Given the description of an element on the screen output the (x, y) to click on. 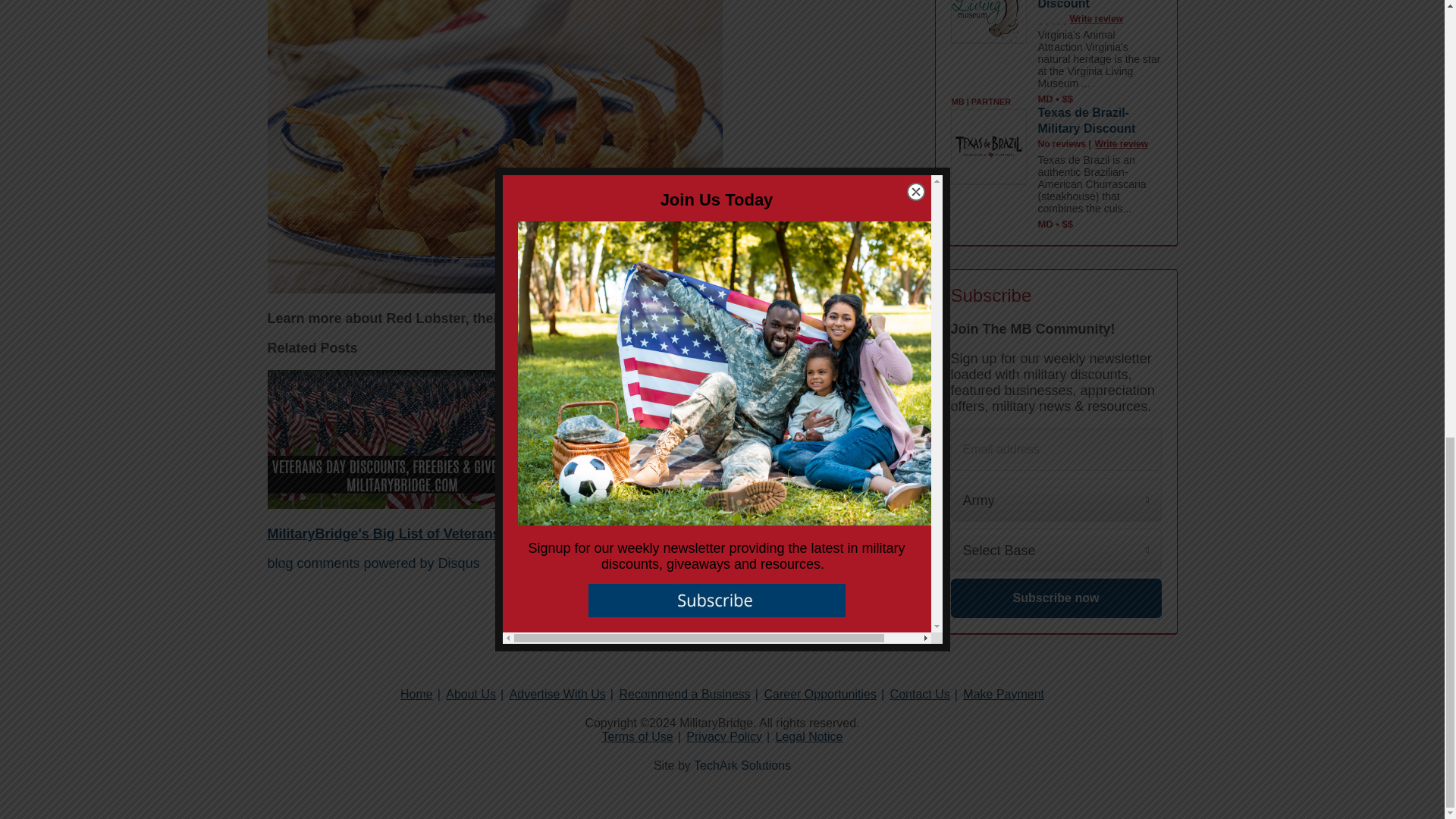
Subscribe now (1055, 598)
here (652, 318)
